Given the description of an element on the screen output the (x, y) to click on. 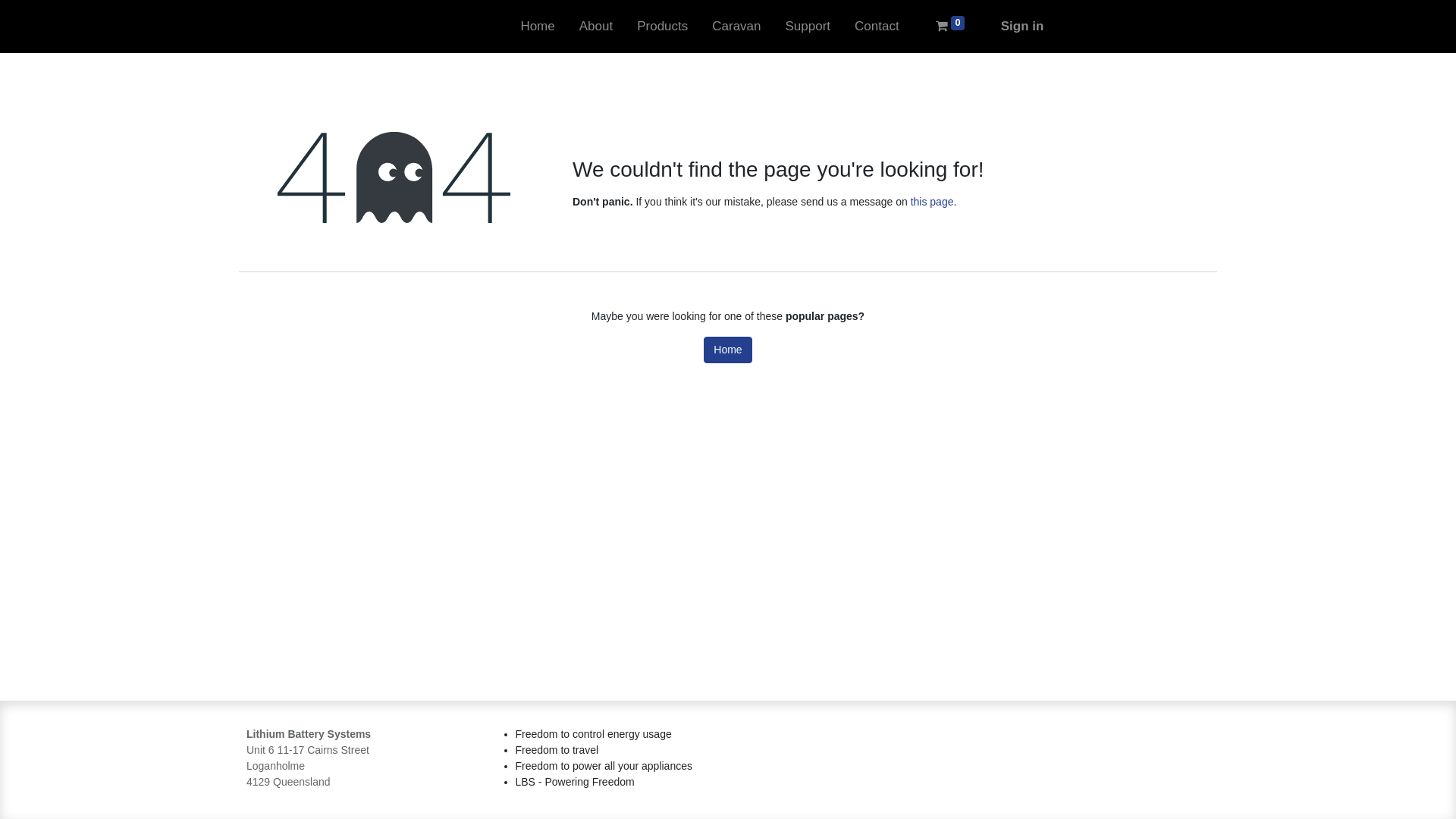
Products Element type: text (661, 26)
this page Element type: text (931, 201)
LBS Element type: hover (283, 26)
Home Element type: text (537, 26)
Support Element type: text (808, 26)
0 Element type: text (949, 26)
Home Element type: text (727, 349)
Sign in Element type: text (1022, 26)
About Element type: text (595, 26)
Contact Element type: text (876, 26)
Caravan Element type: text (735, 26)
